Given the description of an element on the screen output the (x, y) to click on. 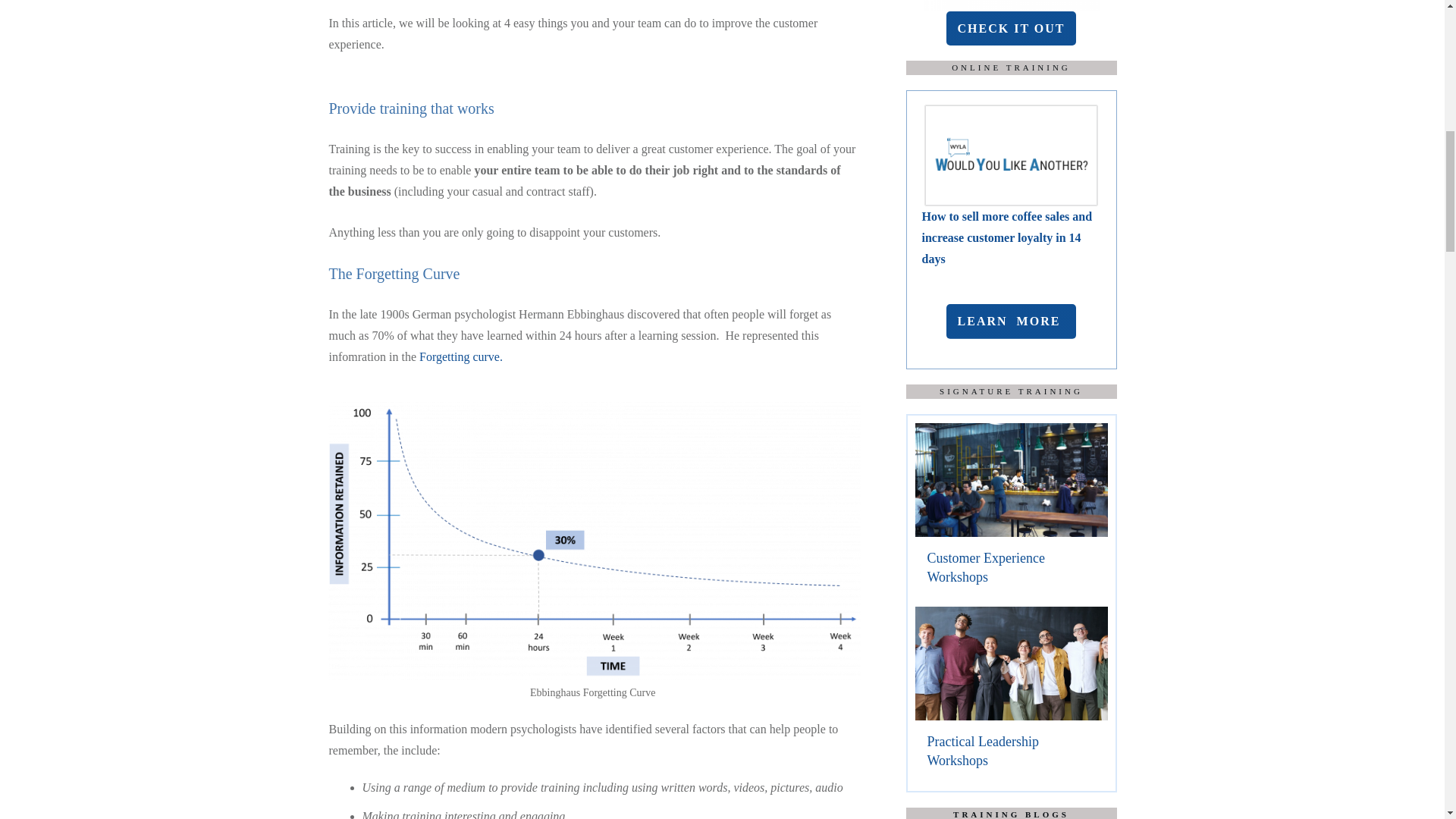
Forgetting curve. (460, 356)
Customer Experience Workshops (984, 567)
Customer Experience Workshops (984, 567)
2 (1011, 153)
Practical Leadership Workshops (982, 750)
Customer Experience Workshops (1010, 510)
LEARN  MORE  (1011, 321)
Practical Leadership Workshops (982, 750)
Practical Leadership Workshops (1010, 694)
CHECK IT OUT (1011, 28)
